Given the description of an element on the screen output the (x, y) to click on. 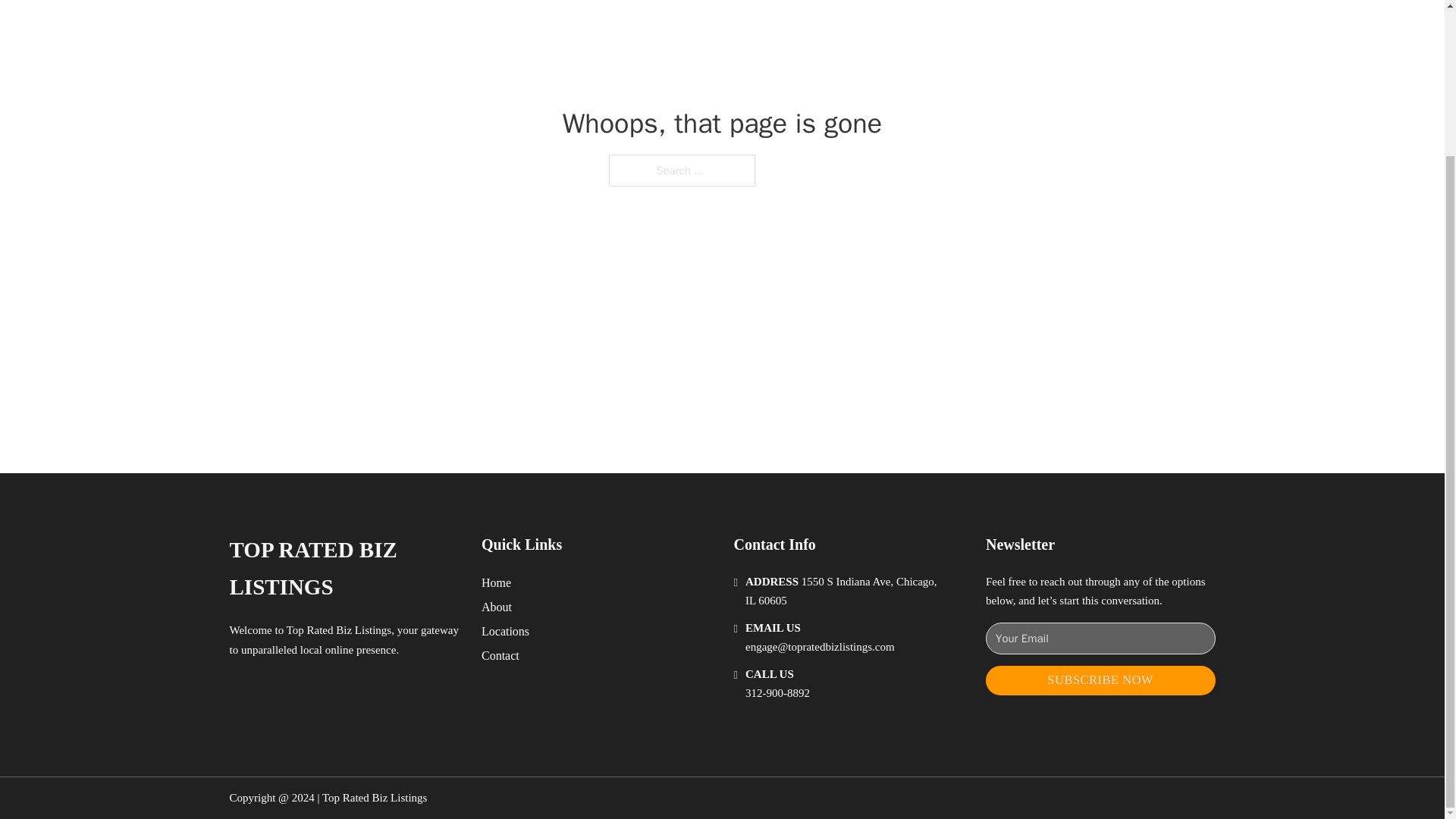
TOP RATED BIZ LISTINGS (343, 568)
SUBSCRIBE NOW (1100, 680)
312-900-8892 (777, 693)
Locations (505, 630)
About (496, 607)
Contact (500, 655)
Home (496, 582)
